Given the description of an element on the screen output the (x, y) to click on. 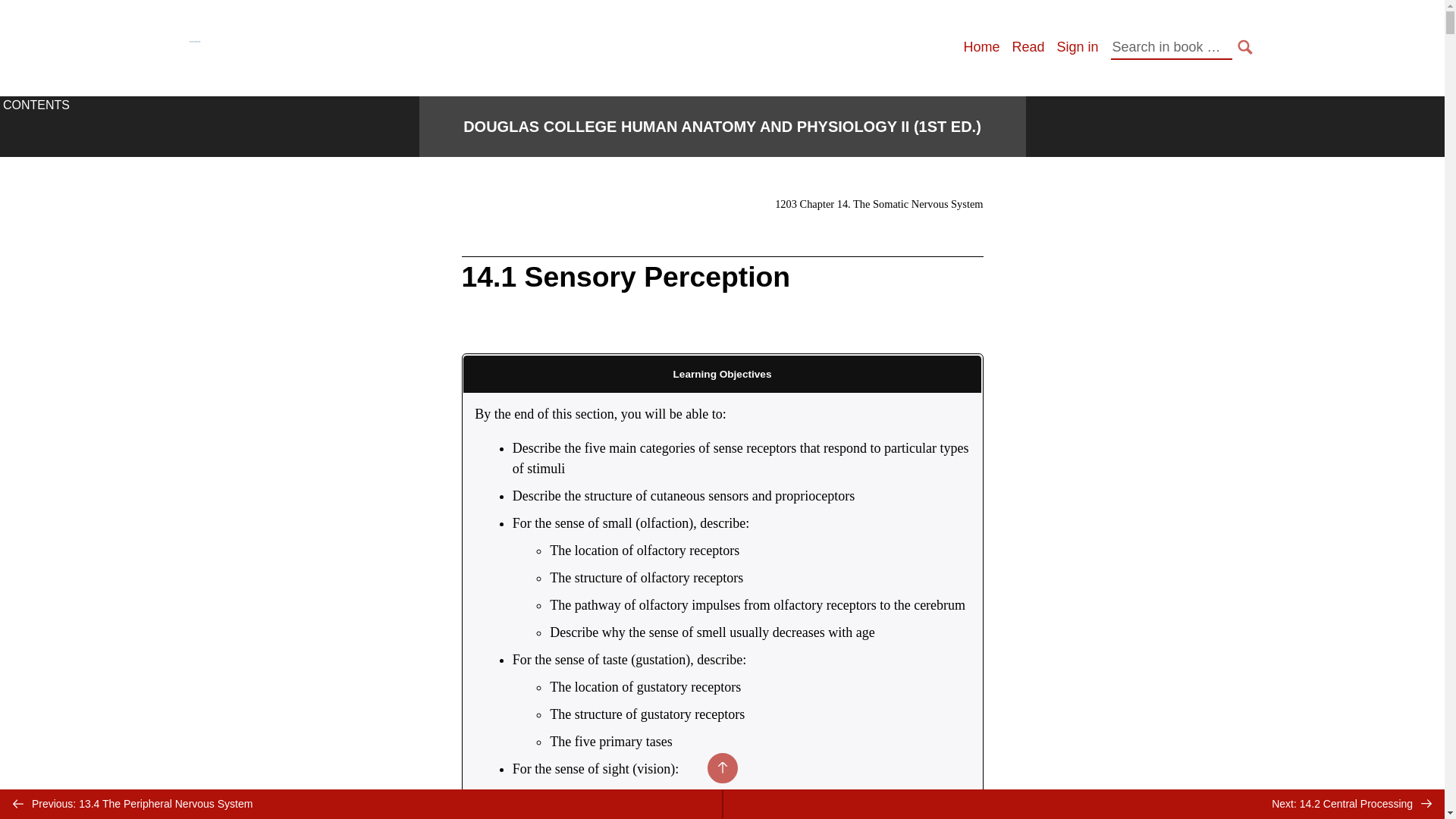
Home (980, 46)
BACK TO TOP (721, 767)
Read (1027, 46)
Sign in (1077, 46)
Previous: 13.4 The Peripheral Nervous System (361, 804)
Previous: 13.4 The Peripheral Nervous System (361, 804)
